Given the description of an element on the screen output the (x, y) to click on. 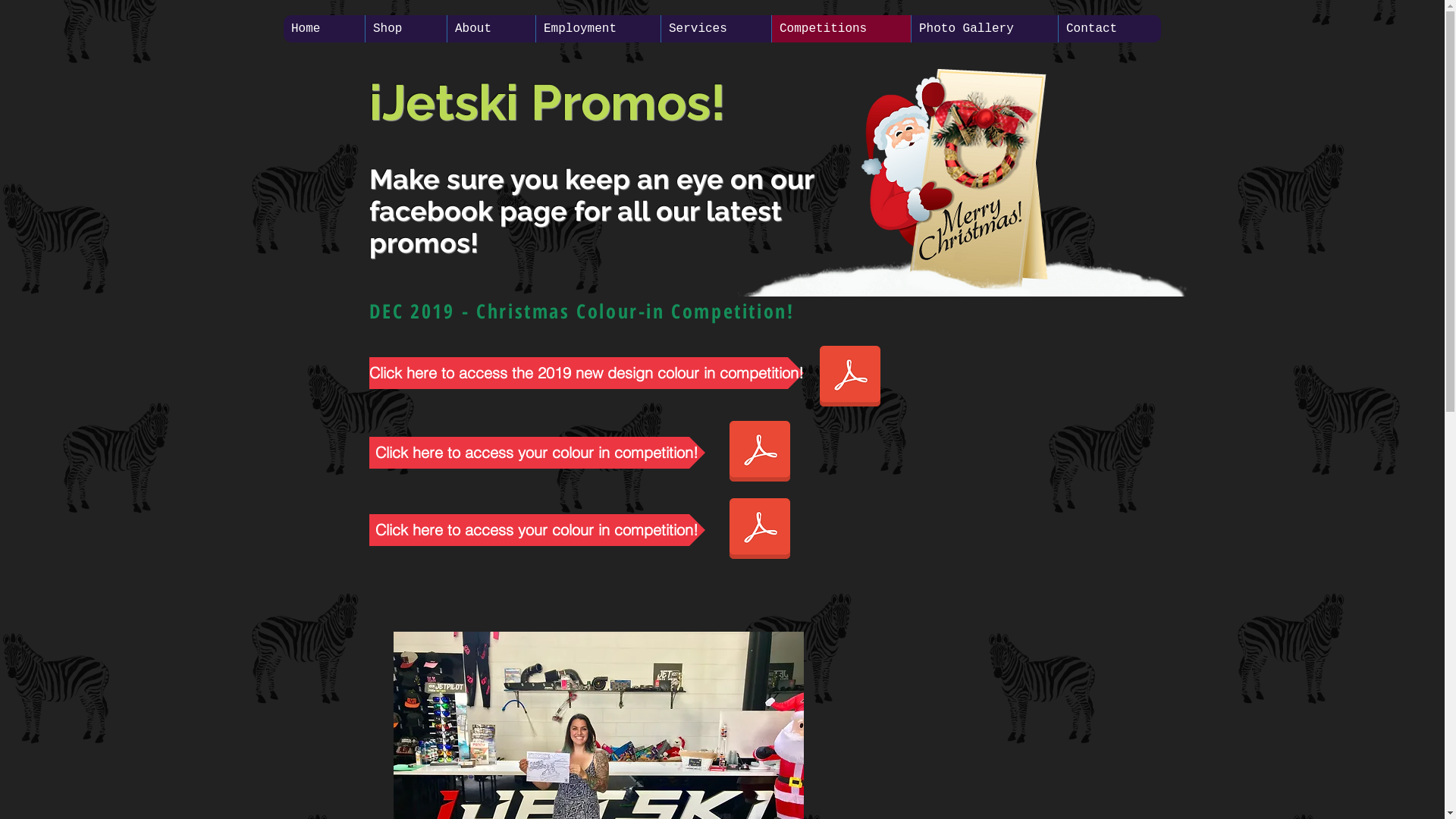
About Element type: text (490, 28)
Log In Element type: text (1014, 28)
Photo Gallery Element type: text (983, 28)
Competitions Element type: text (840, 28)
2019 christmas 2.pdf Element type: hover (758, 529)
Contact Element type: text (1109, 28)
Employment Element type: text (597, 28)
2019 new design.pdf Element type: hover (849, 377)
Click here to access your colour in competition! Element type: text (536, 452)
2019 Colour in comp ijetski.pdf Element type: hover (758, 452)
Click here to access your colour in competition! Element type: text (536, 530)
Home Element type: text (323, 28)
Shop Element type: text (405, 28)
Services Element type: text (715, 28)
